Given the description of an element on the screen output the (x, y) to click on. 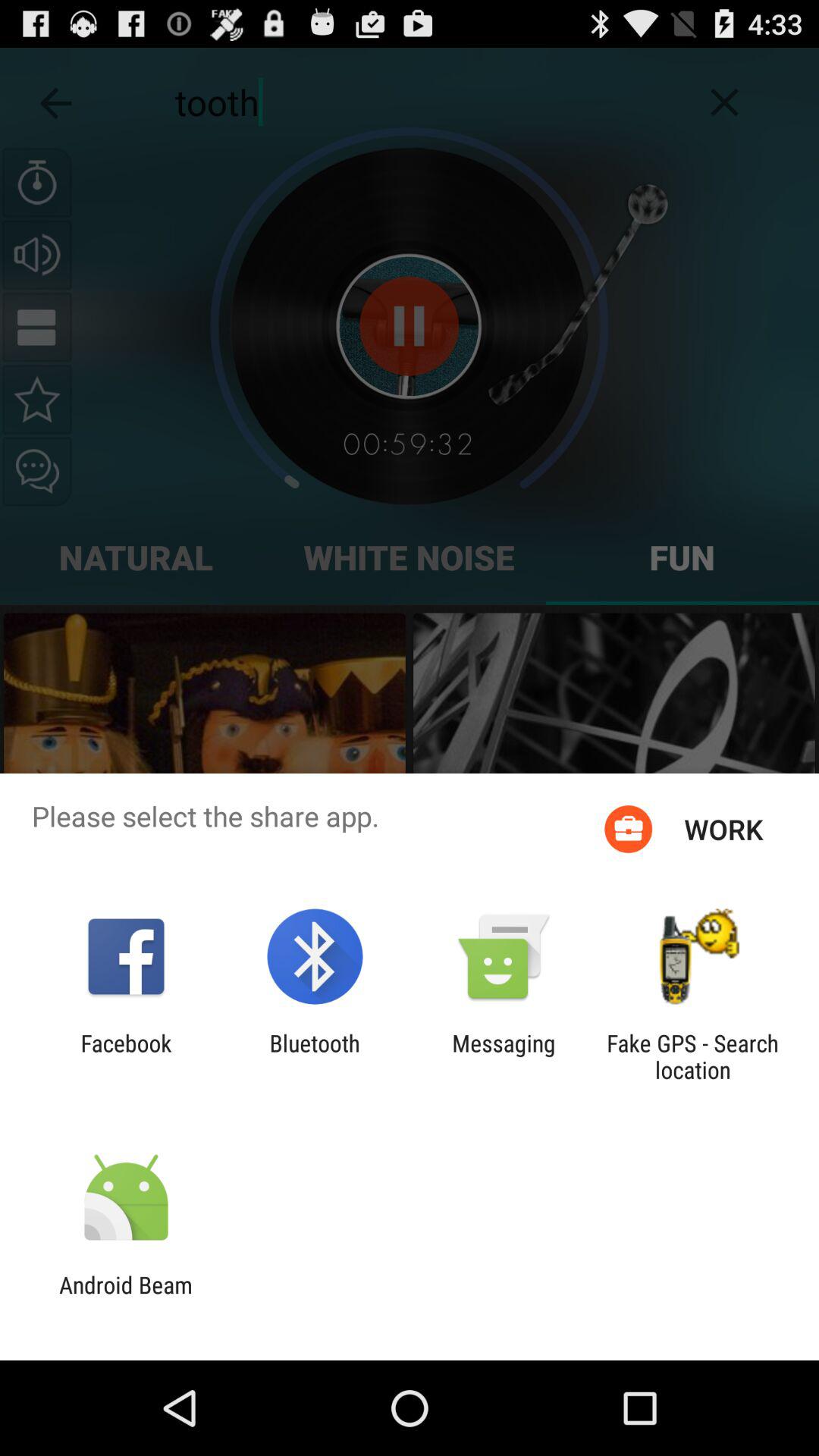
press icon to the left of the fake gps search app (503, 1056)
